Given the description of an element on the screen output the (x, y) to click on. 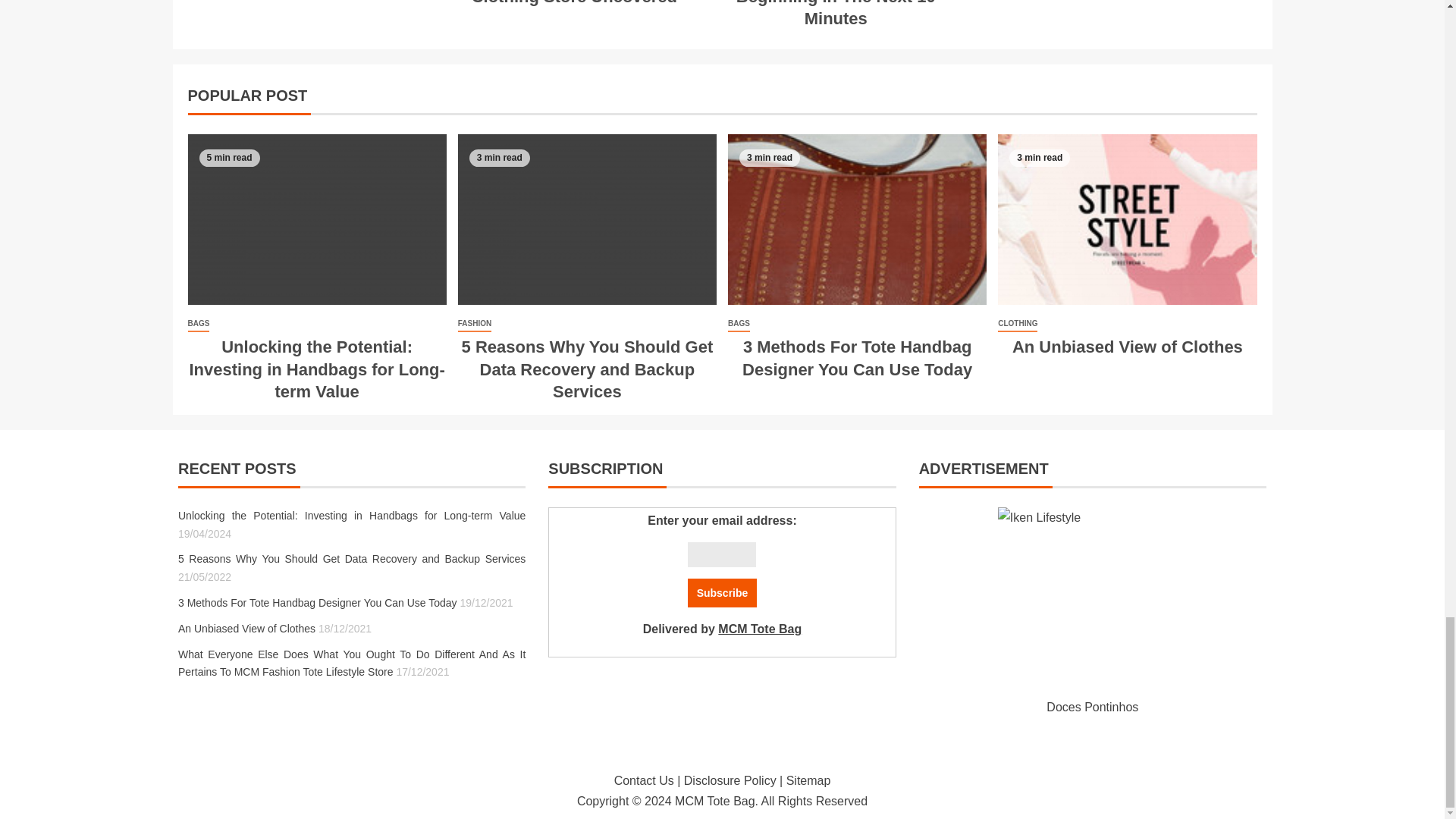
Subscribe (722, 592)
